Given the description of an element on the screen output the (x, y) to click on. 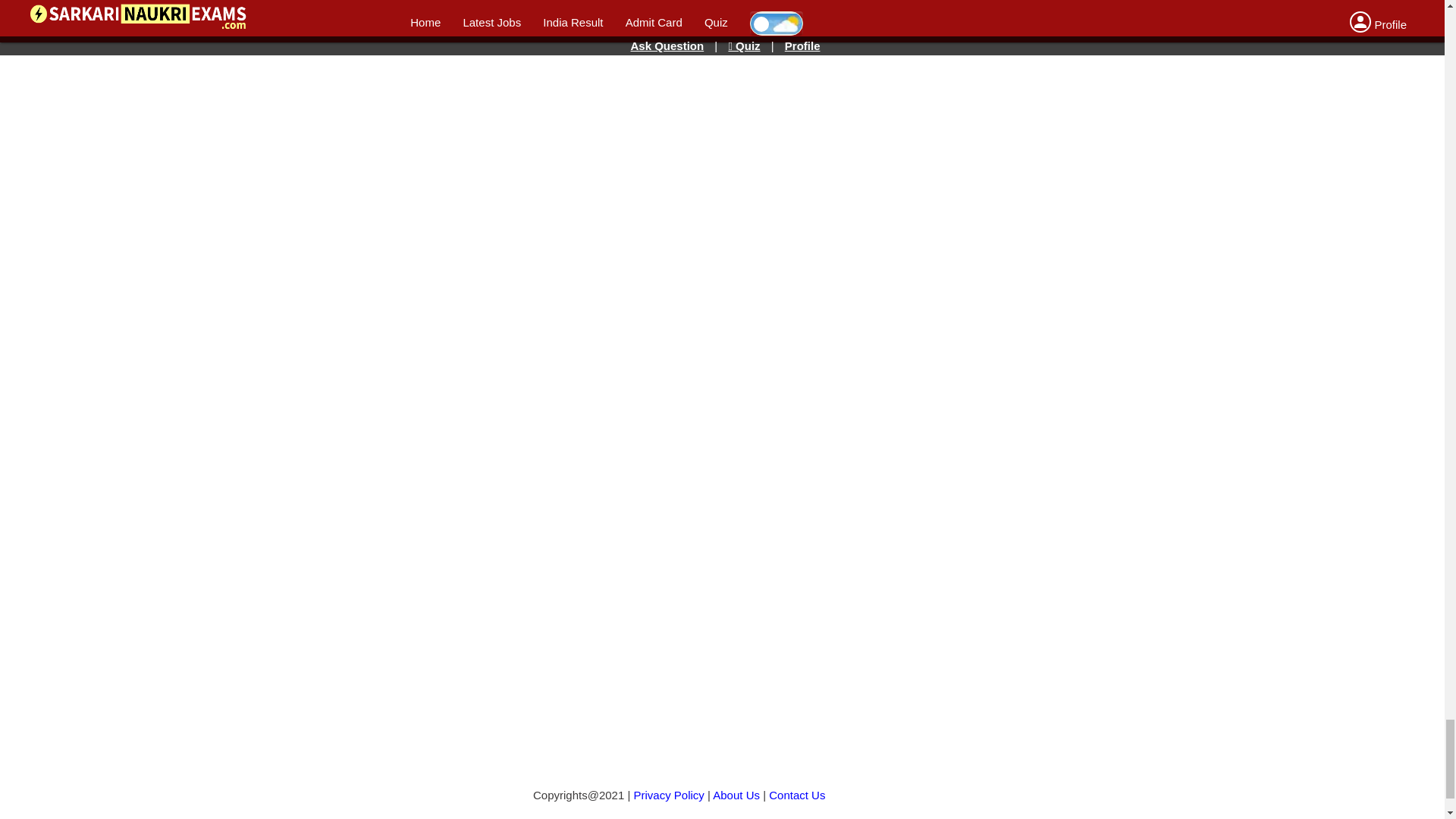
Privacy Policy (668, 794)
About Us (736, 794)
Contact Us (796, 794)
